Given the description of an element on the screen output the (x, y) to click on. 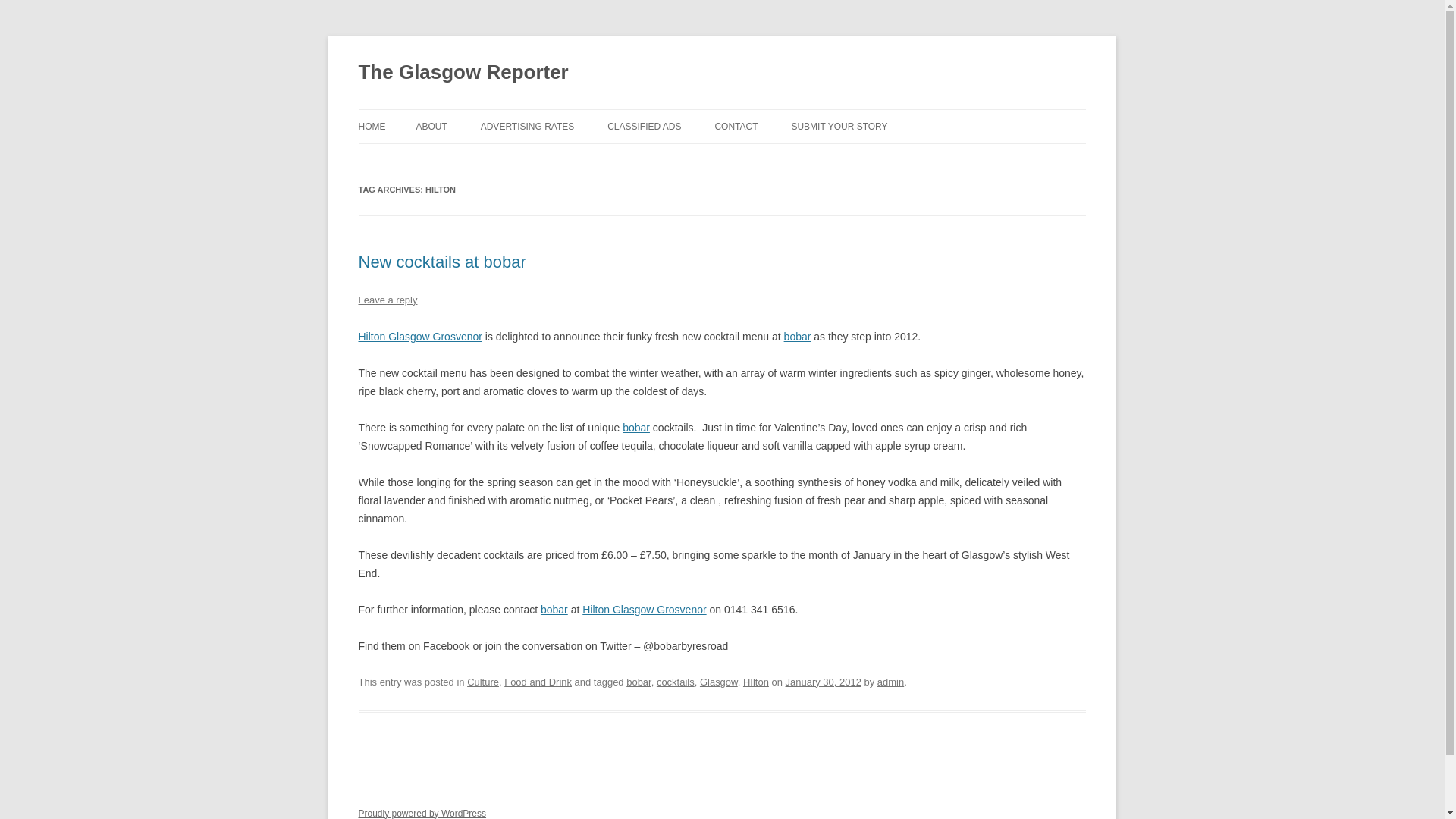
Hilton Glasgow Grosvenor (644, 609)
January 30, 2012 (823, 681)
bobar (636, 427)
HIlton (755, 681)
12:30 pm (823, 681)
New cocktails at bobar (441, 261)
The Glasgow Reporter (462, 72)
Food and Drink (537, 681)
Leave a reply (387, 299)
BROWSE ADS (682, 158)
